Given the description of an element on the screen output the (x, y) to click on. 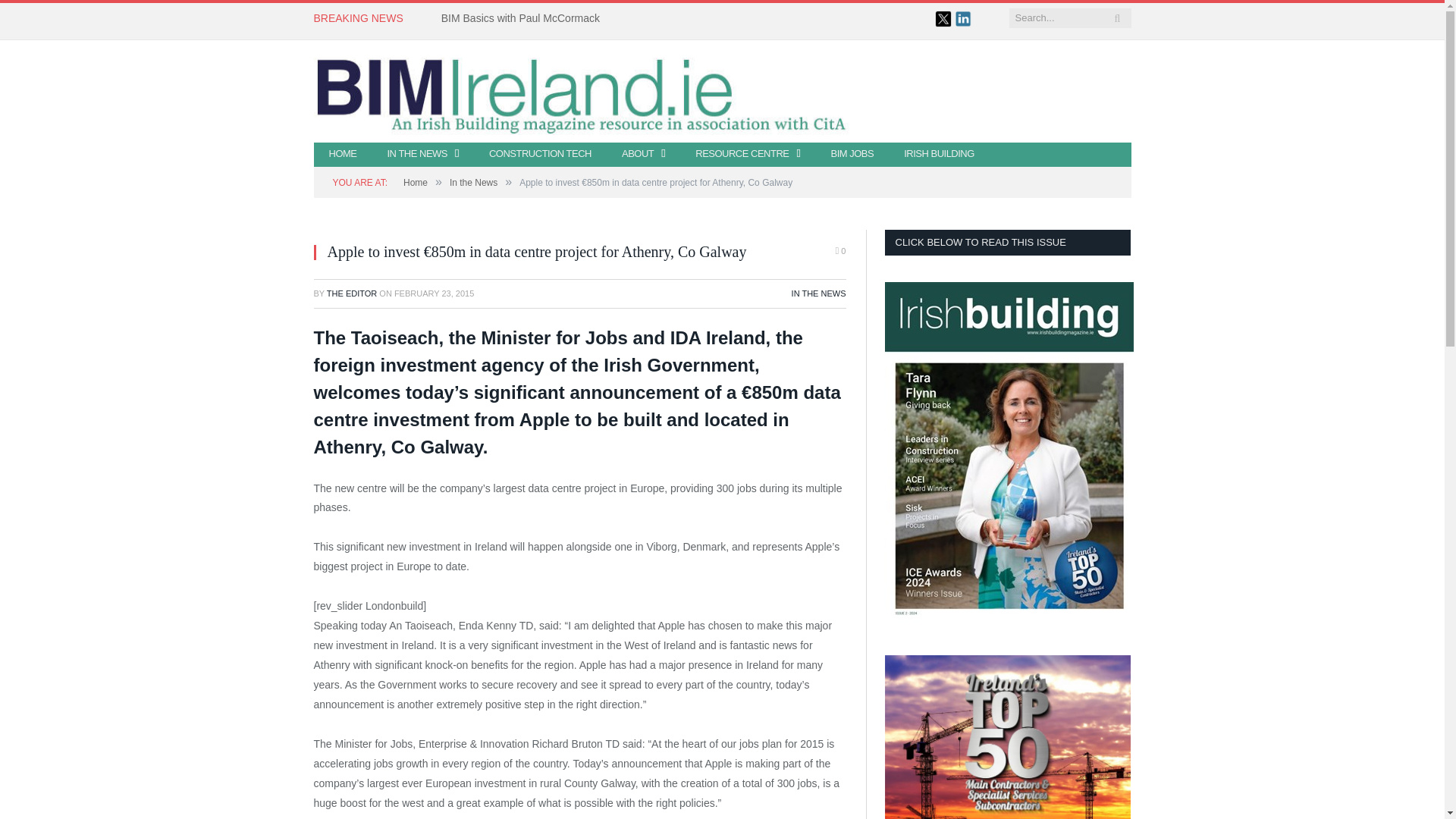
LinkedIn (962, 23)
BIM Basics with Paul McCormack (524, 18)
IN THE NEWS (422, 153)
BIM Basics with Paul McCormack (524, 18)
ABOUT (643, 154)
RESOURCE CENTRE (747, 154)
HOME (343, 154)
CONSTRUCTION TECH (540, 154)
BIM Ireland (722, 91)
Twitter (943, 23)
